Given the description of an element on the screen output the (x, y) to click on. 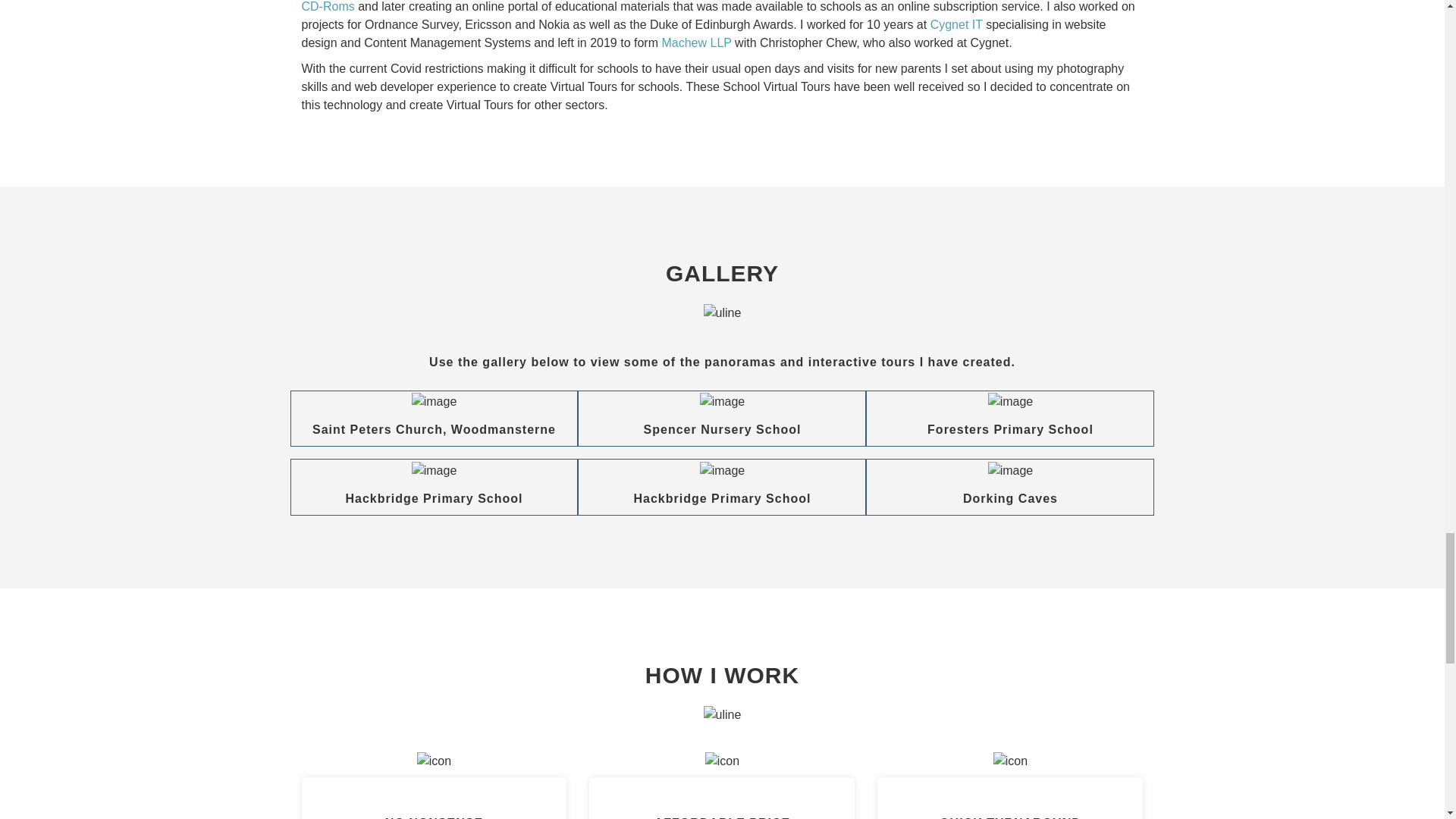
Cygnet IT (956, 24)
NO NONSENSE (434, 817)
QUICK TURNAROUND (1010, 817)
"The Times Education Series" CD-Roms (710, 6)
AFFORDABLE PRICE (721, 817)
Machew LLP (695, 42)
